Given the description of an element on the screen output the (x, y) to click on. 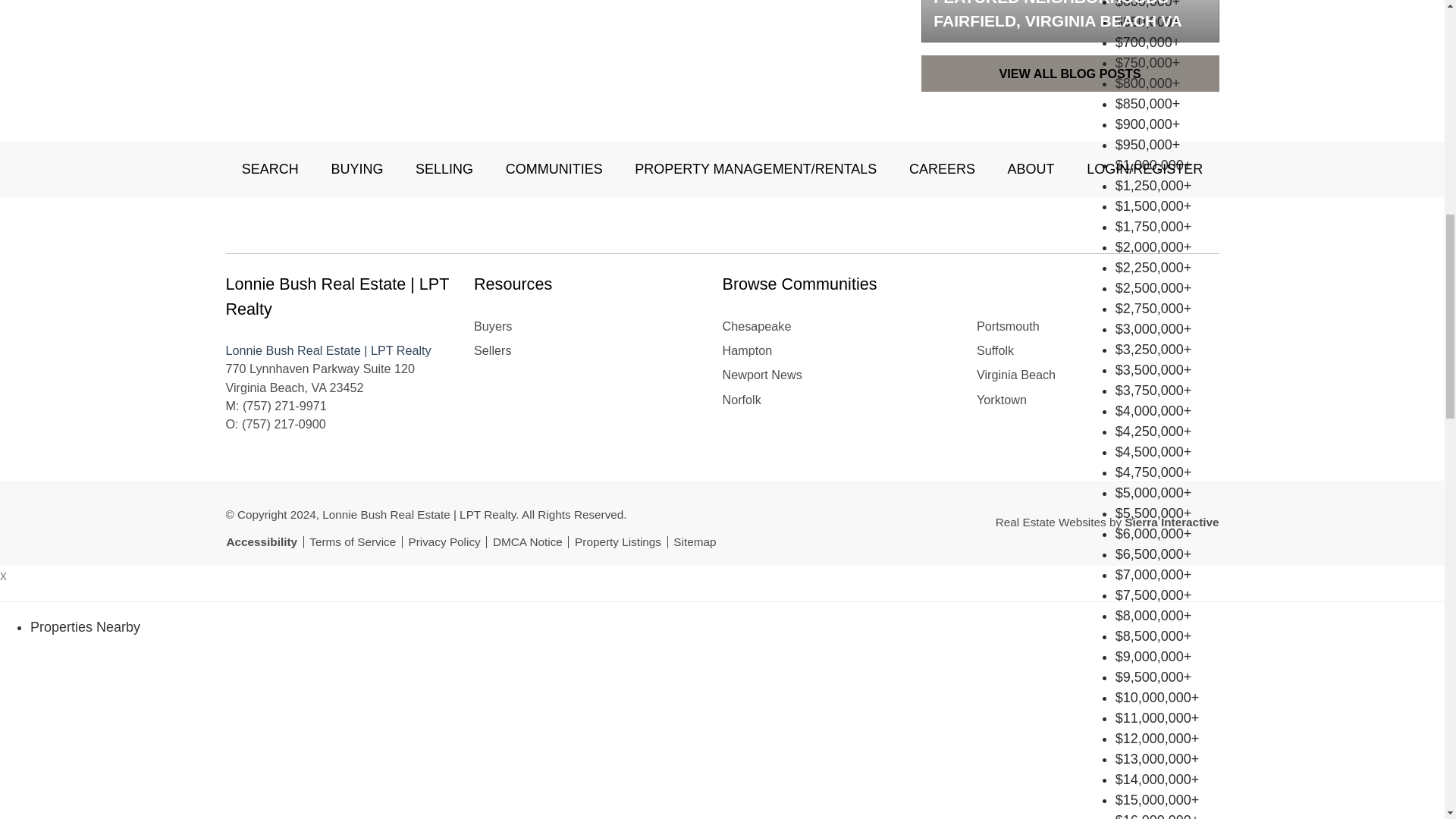
View Sellers (492, 350)
View Buyers (493, 325)
View Hampton (746, 350)
Home Page (369, 223)
View Chesapeake (756, 325)
View Newport News (762, 374)
